Given the description of an element on the screen output the (x, y) to click on. 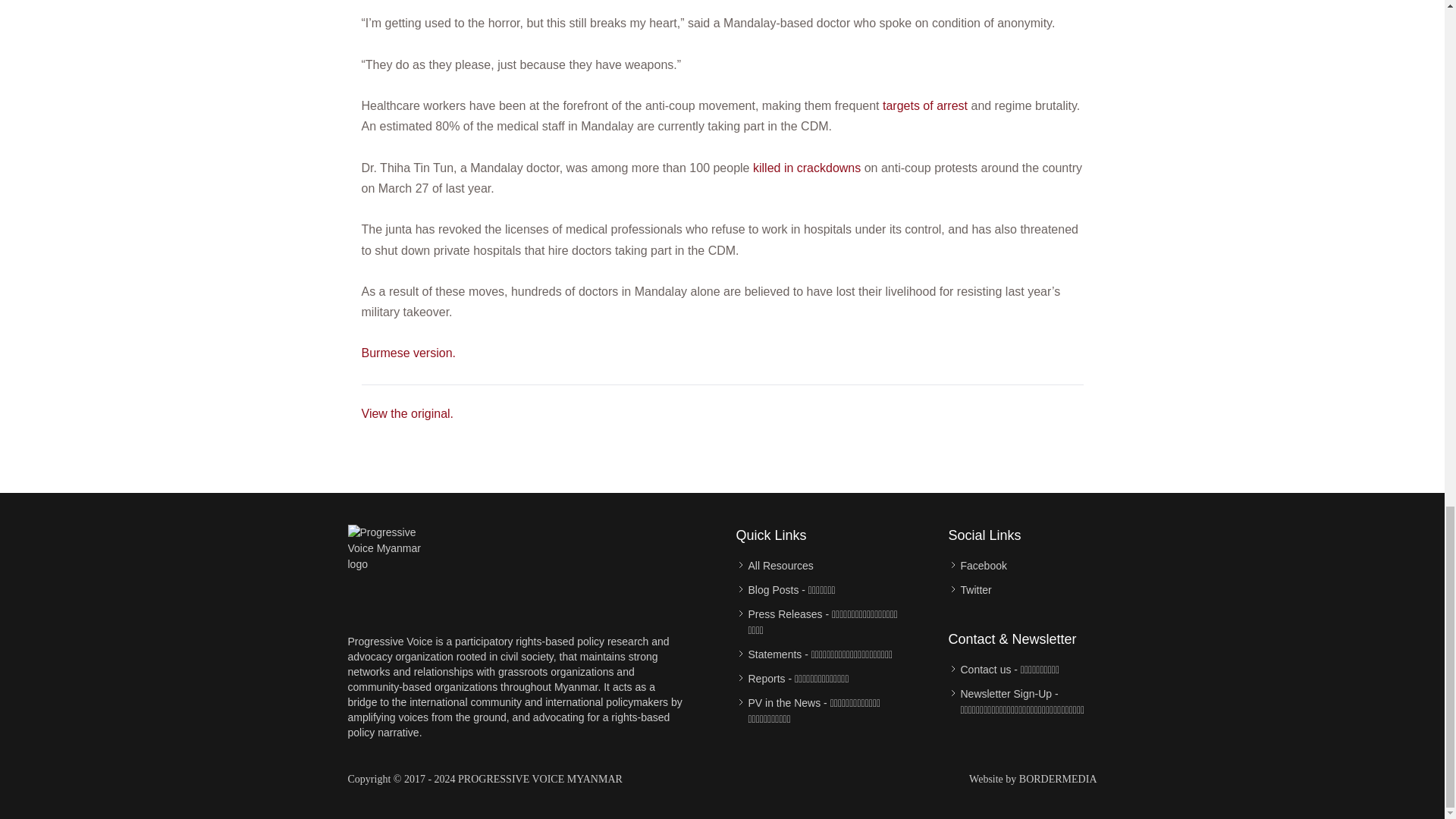
killed in crackdowns (806, 167)
View the original. (406, 413)
All Resources (780, 565)
Progressive Voice Myanmar - Home page (392, 569)
Burmese version. (408, 352)
targets of arrest (925, 105)
